Given the description of an element on the screen output the (x, y) to click on. 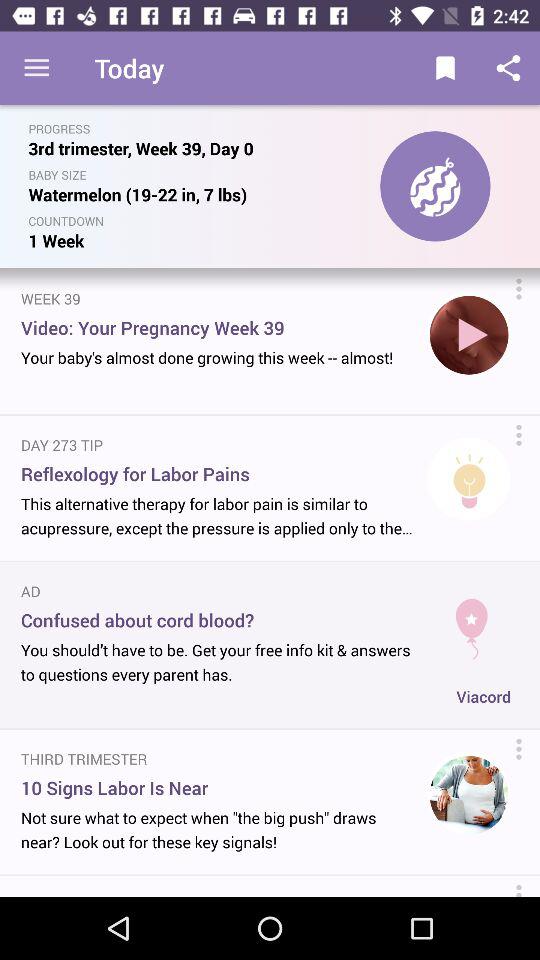
launch the item next to the today item (36, 68)
